Given the description of an element on the screen output the (x, y) to click on. 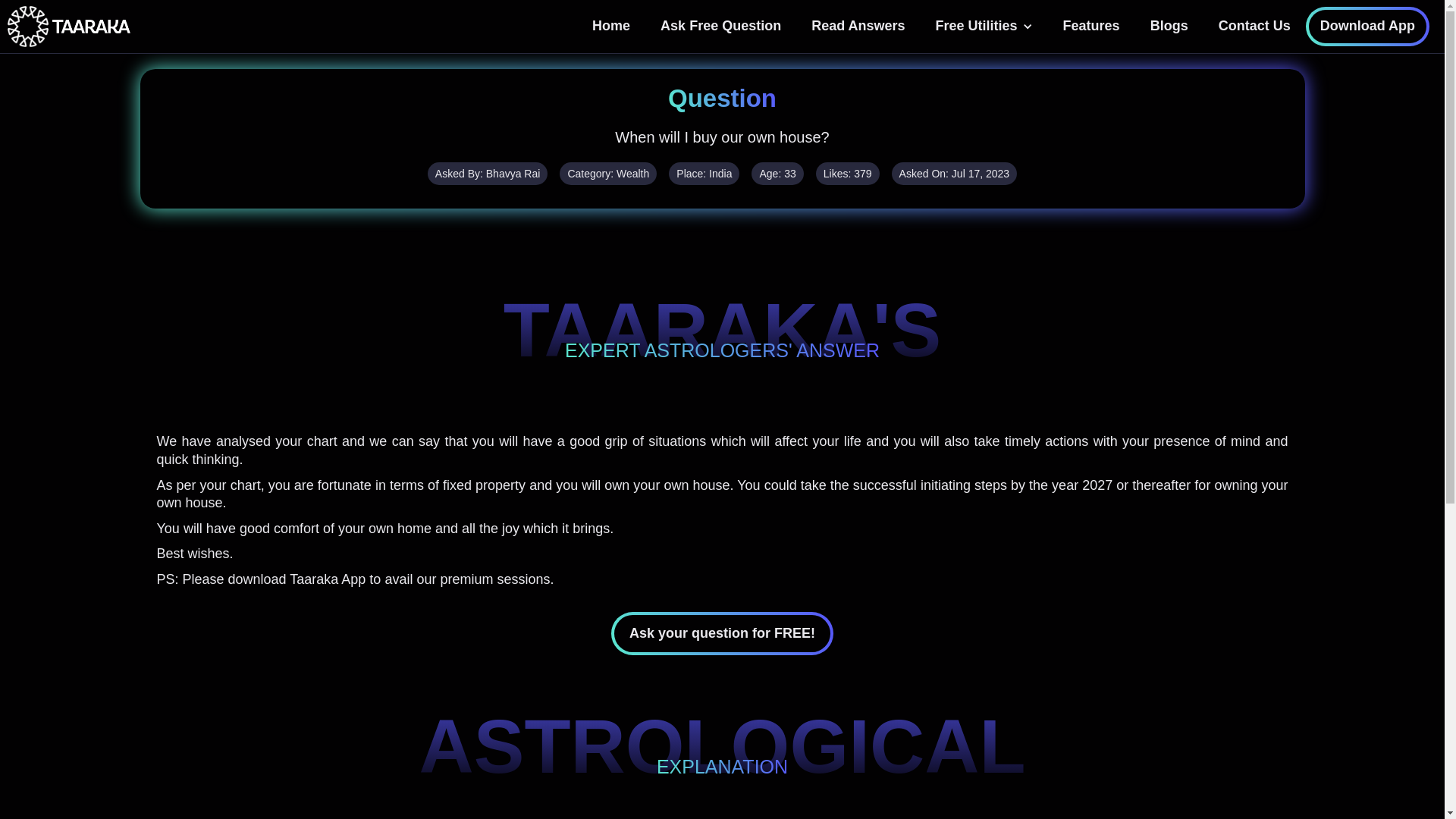
Home (610, 25)
Ask Free Question (720, 25)
Blogs (1169, 25)
Download App (1367, 25)
Contact Us (1255, 25)
Features (1091, 25)
Read Answers (858, 25)
Ask your question for FREE! (721, 633)
